Given the description of an element on the screen output the (x, y) to click on. 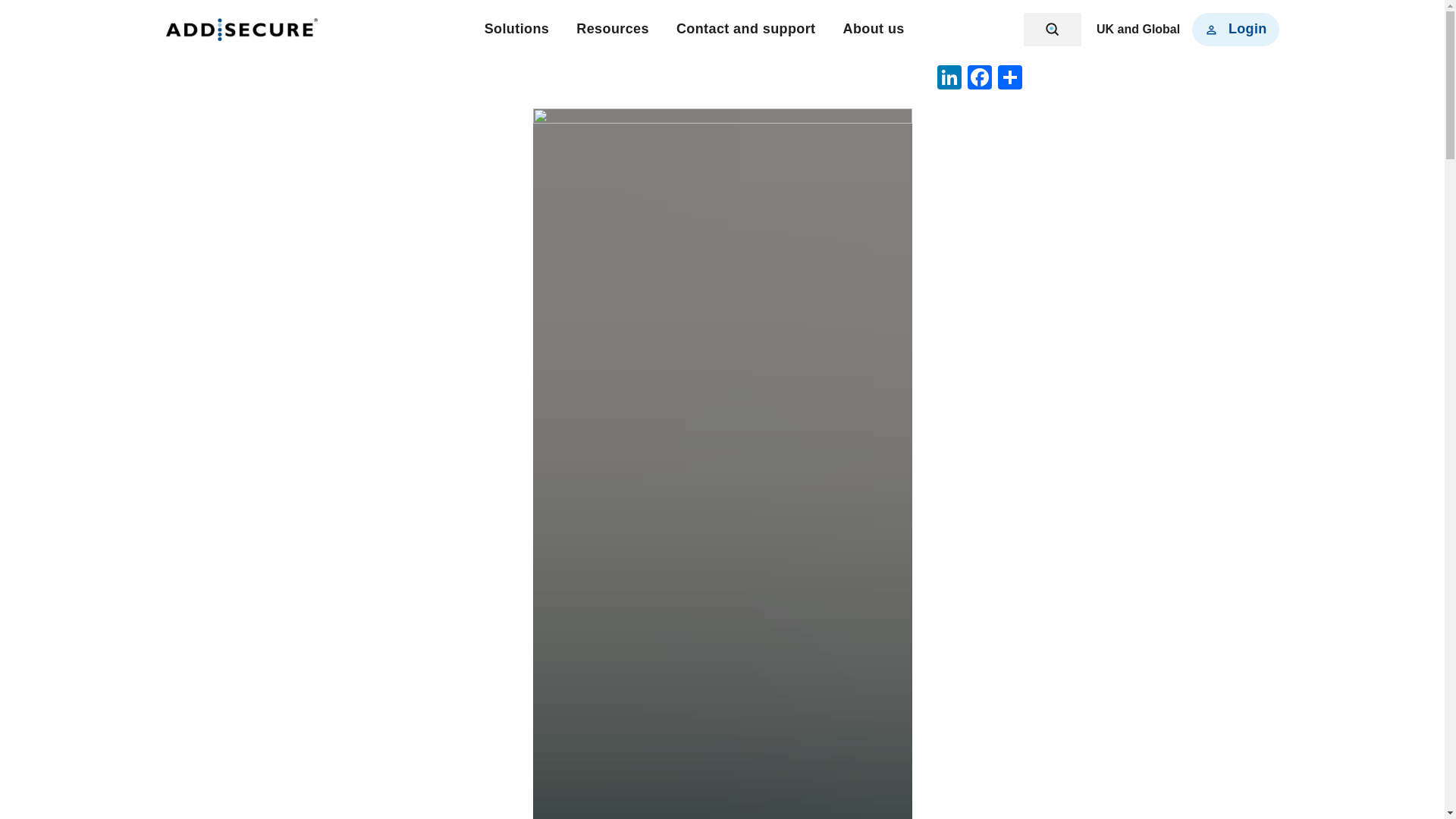
LinkedIn (948, 79)
Facebook (978, 79)
Solutions (517, 29)
